Given the description of an element on the screen output the (x, y) to click on. 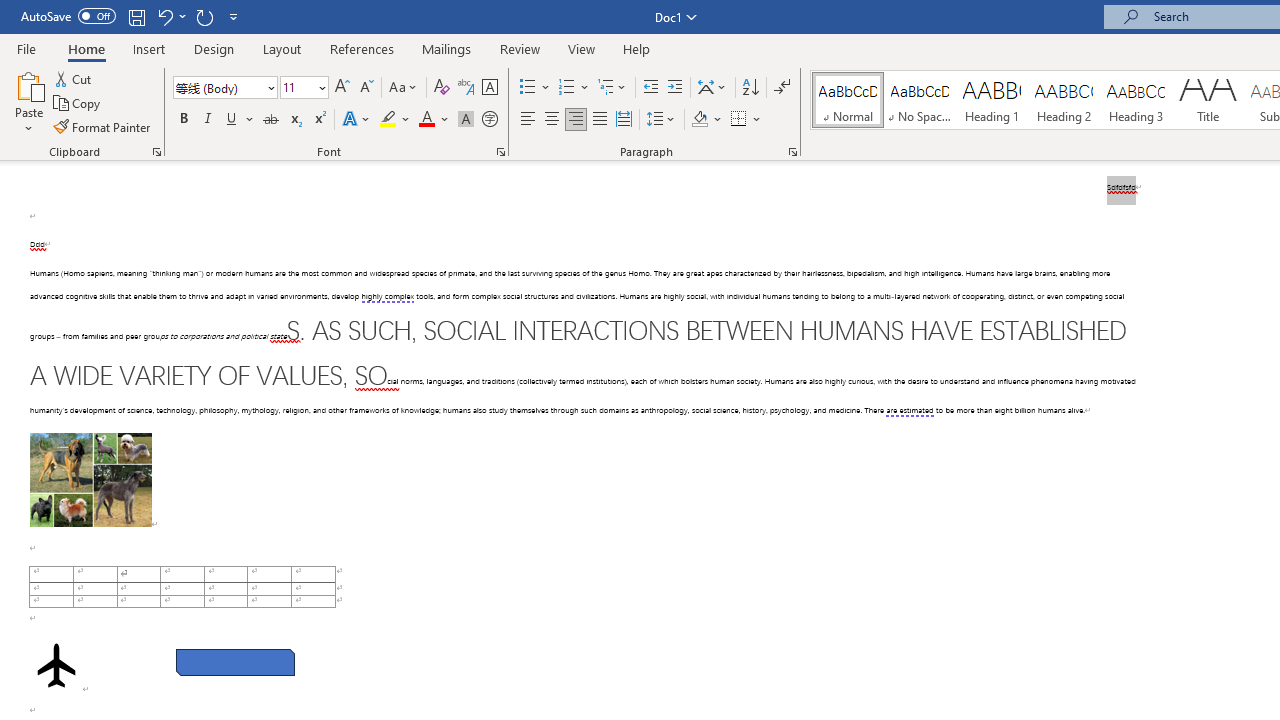
Heading 2 (1063, 100)
Undo Paragraph Alignment (164, 15)
